Given the description of an element on the screen output the (x, y) to click on. 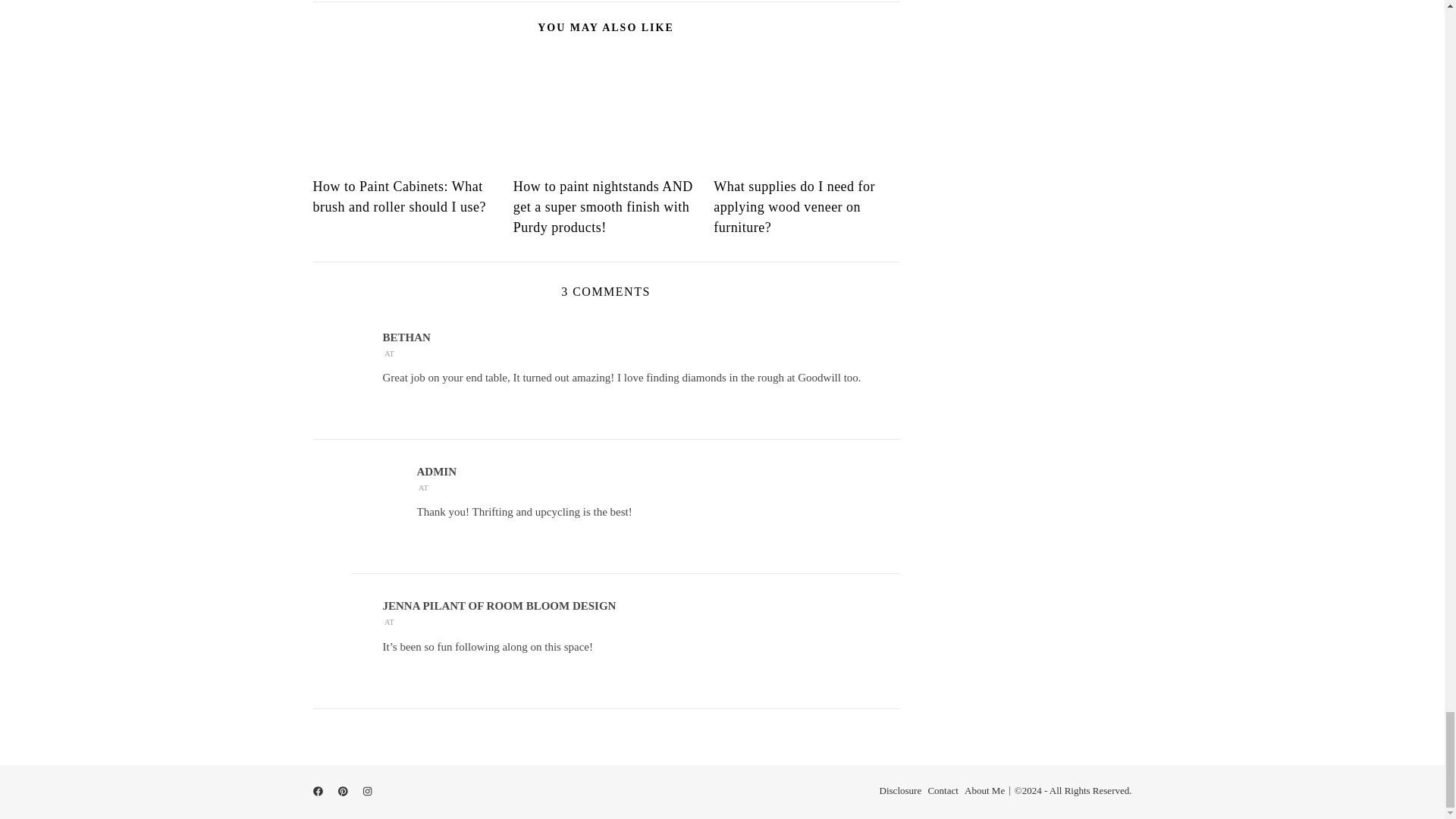
 AT  (388, 352)
How to Paint Cabinets: What brush and roller should I use? (398, 196)
 AT  (388, 621)
 AT  (423, 487)
